Given the description of an element on the screen output the (x, y) to click on. 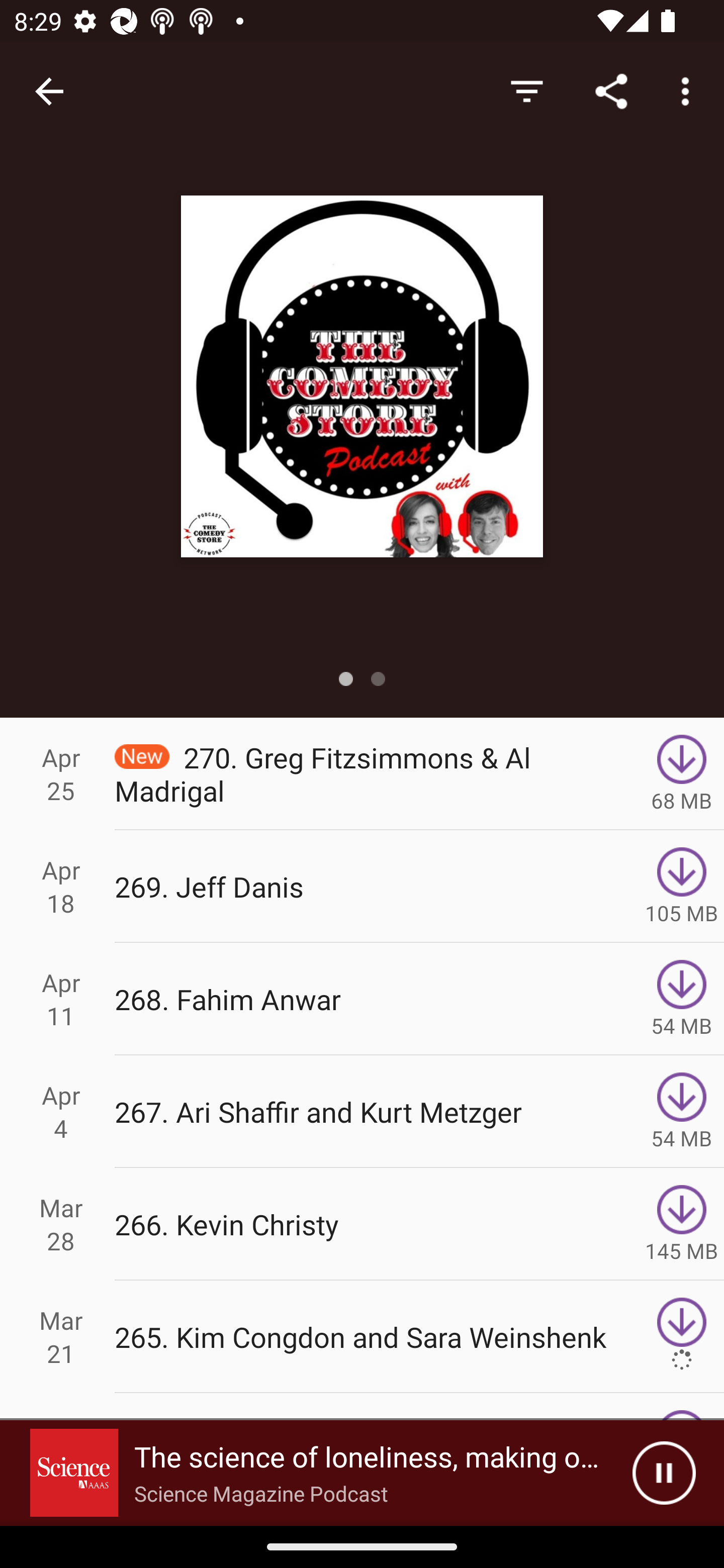
Navigate up (49, 91)
Hide Episodes (526, 90)
Share Link (611, 90)
More options (688, 90)
Download 68 MB (681, 773)
Apr 18 269. Jeff Danis Download 105 MB (362, 885)
Download 105 MB (681, 885)
Apr 11 268. Fahim Anwar Download 54 MB (362, 998)
Download 54 MB (681, 998)
Download 54 MB (681, 1111)
Mar 28 266. Kevin Christy Download 145 MB (362, 1224)
Download 145 MB (681, 1224)
Download  (681, 1336)
Pause (663, 1472)
